Given the description of an element on the screen output the (x, y) to click on. 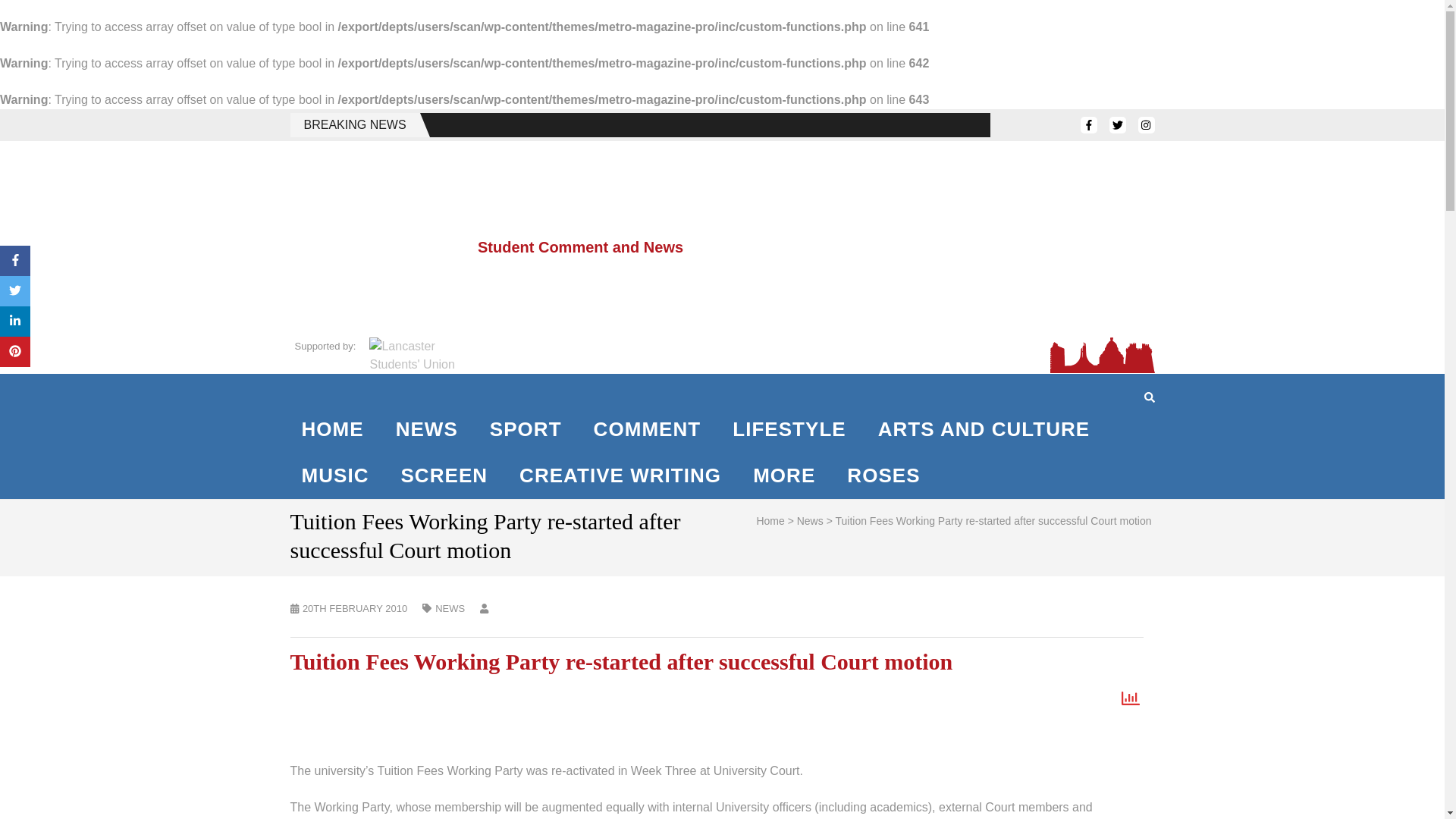
BREAKING NEWS (354, 125)
BREAKING NEWS (639, 125)
